Given the description of an element on the screen output the (x, y) to click on. 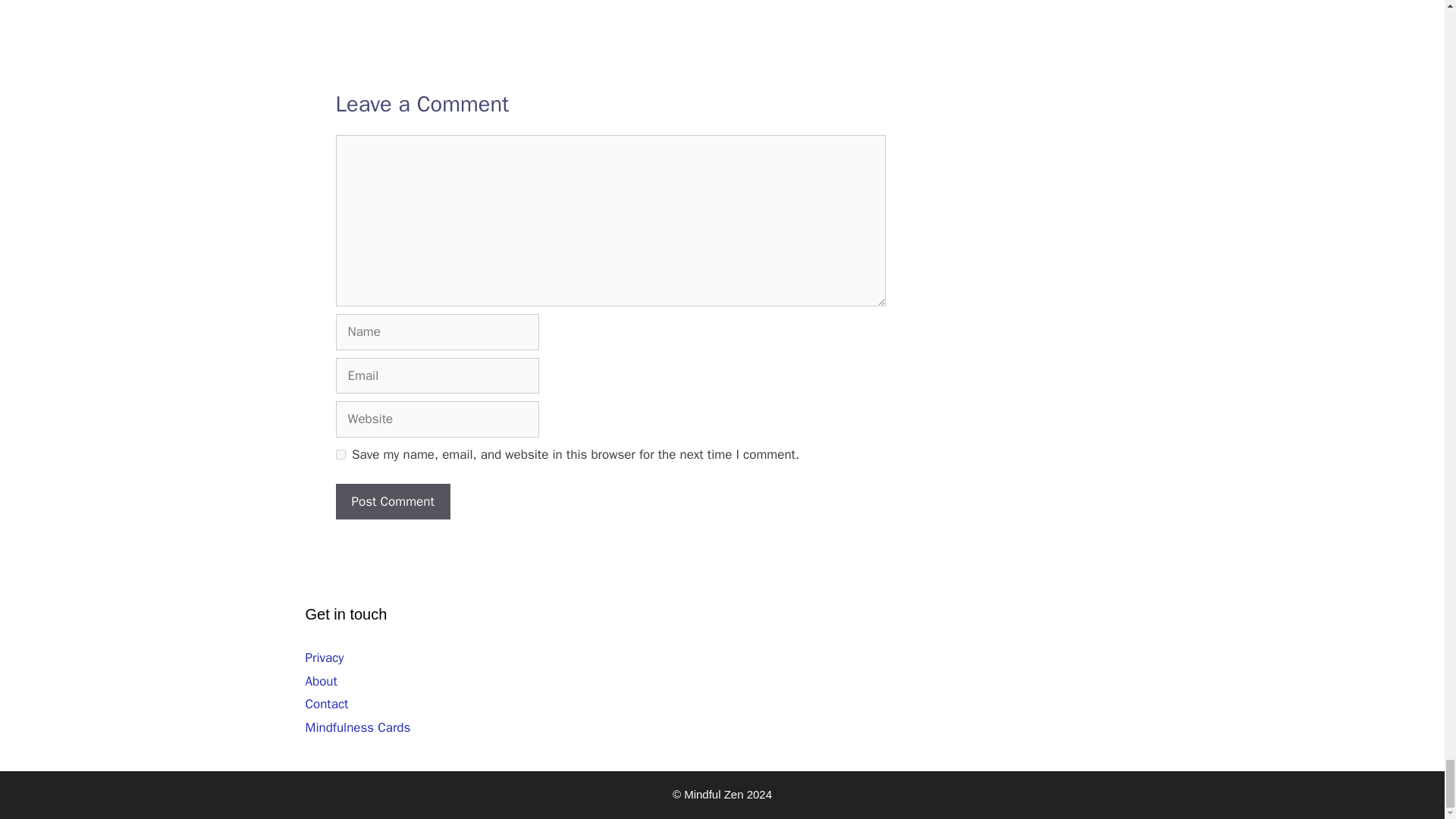
yes (339, 454)
Post Comment (391, 502)
